Given the description of an element on the screen output the (x, y) to click on. 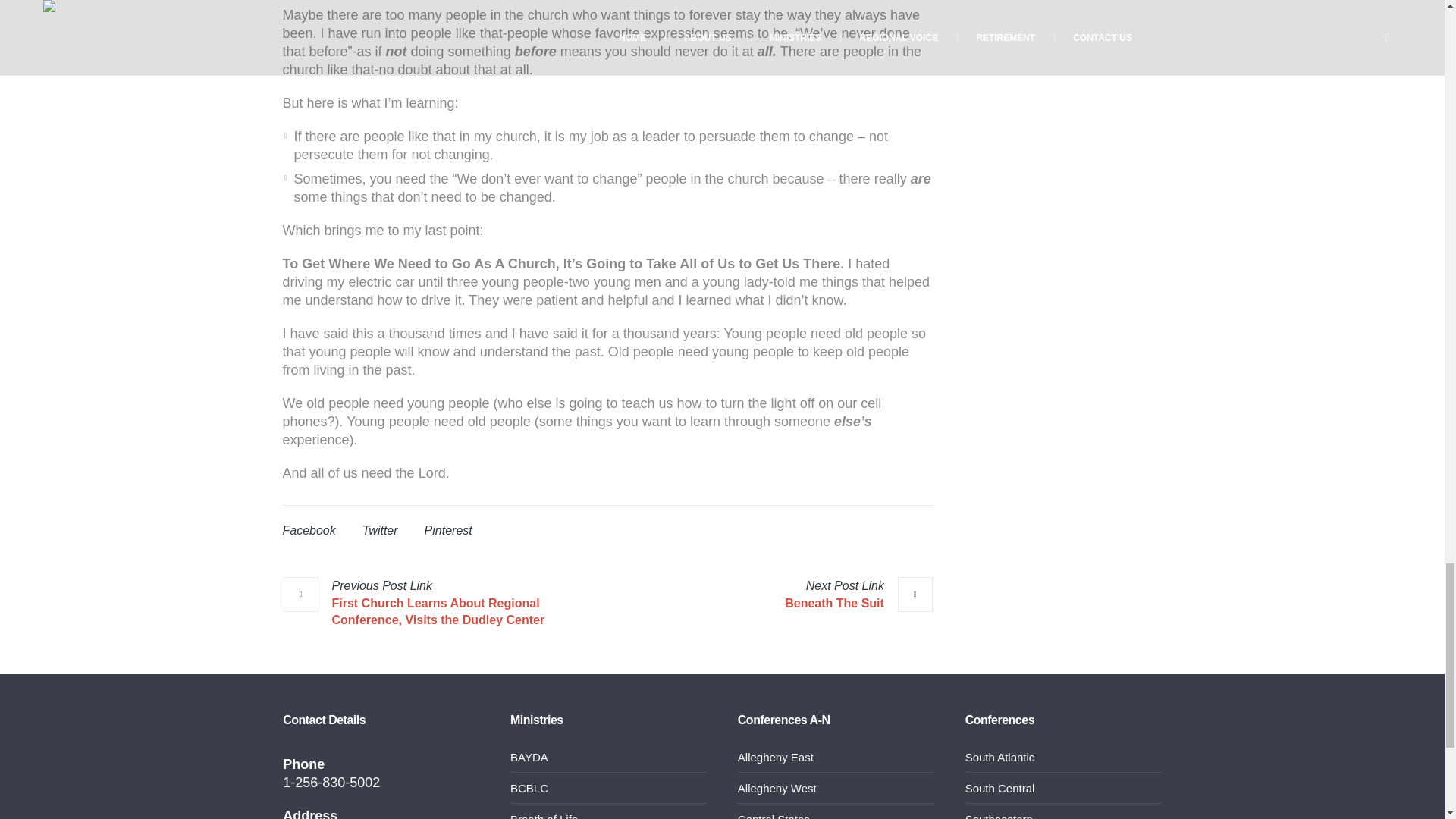
BCBLC (529, 788)
Southeastern (998, 816)
BAYDA (529, 757)
Beneath The Suit (858, 594)
South Atlantic (1000, 757)
Allegheny East (775, 757)
Breath of Life (544, 816)
Twitter (379, 530)
Allegheny West (777, 788)
